Given the description of an element on the screen output the (x, y) to click on. 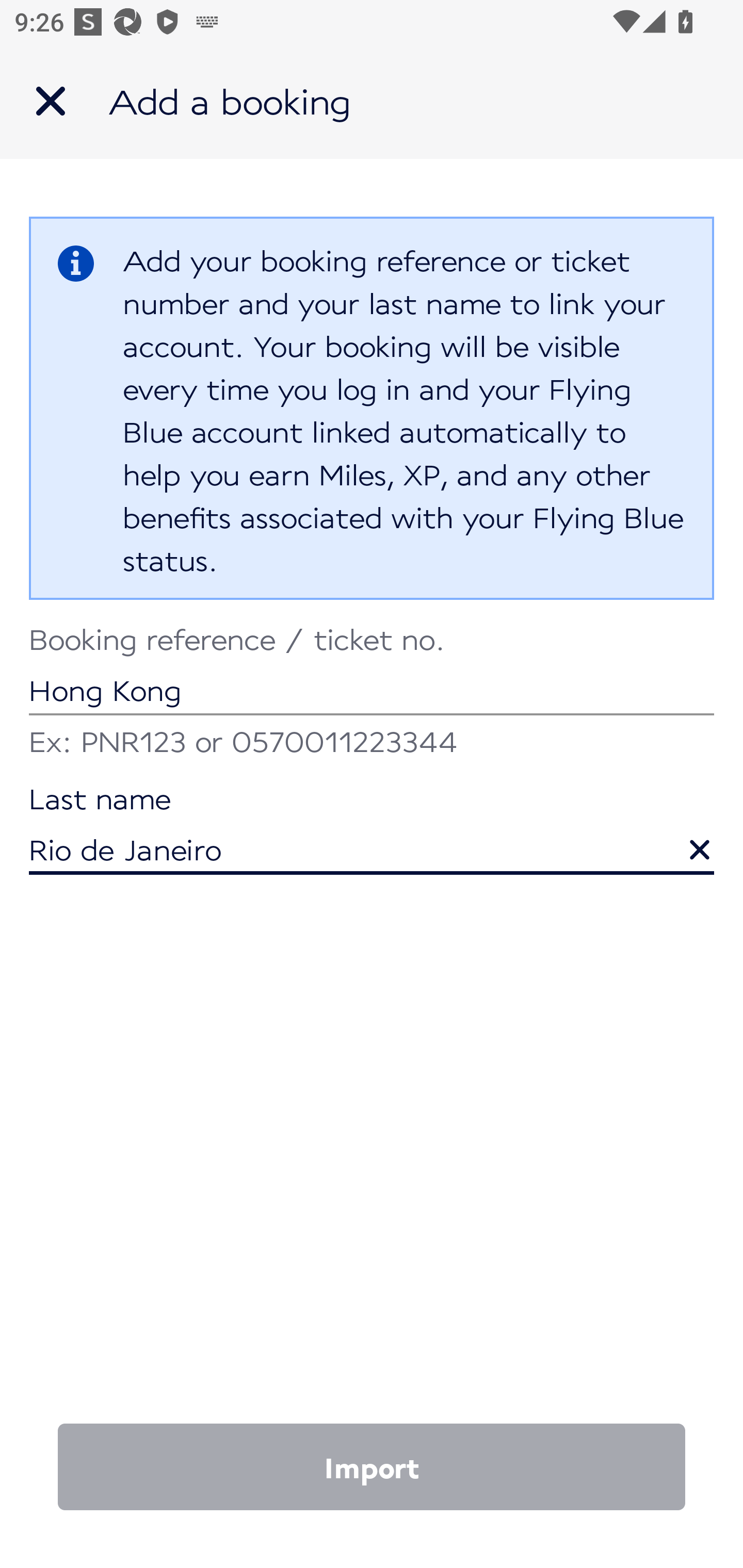
Hong Kong Ex: PNR123 or 0570011223344 (371, 693)
Hong Kong (371, 671)
Rio de Janeiro Clear text (371, 831)
Clear text (685, 839)
Import (371, 1466)
